Given the description of an element on the screen output the (x, y) to click on. 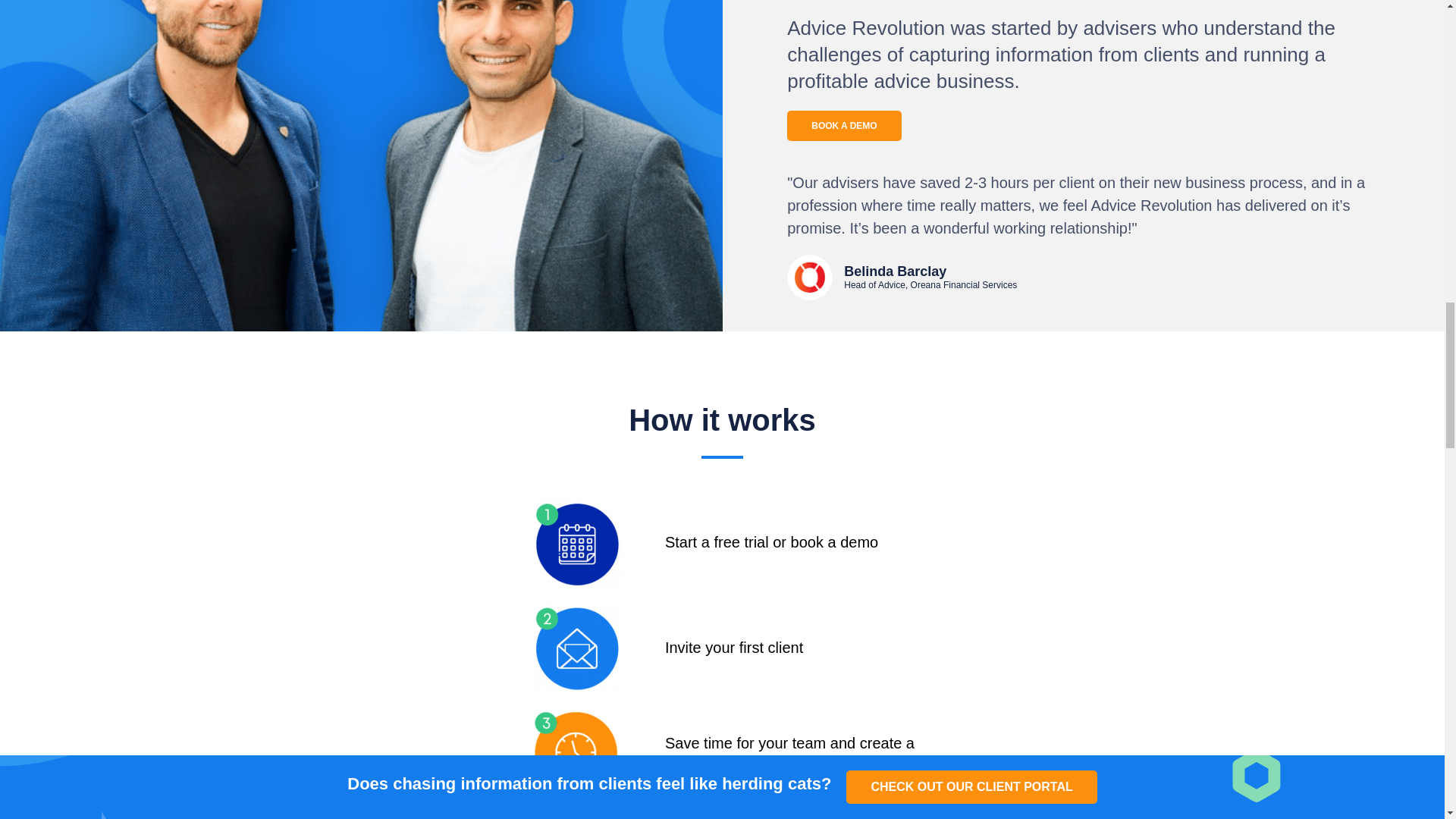
book a demo (577, 541)
save time (577, 753)
BOOK A DEMO (844, 125)
invite first client (577, 646)
